Given the description of an element on the screen output the (x, y) to click on. 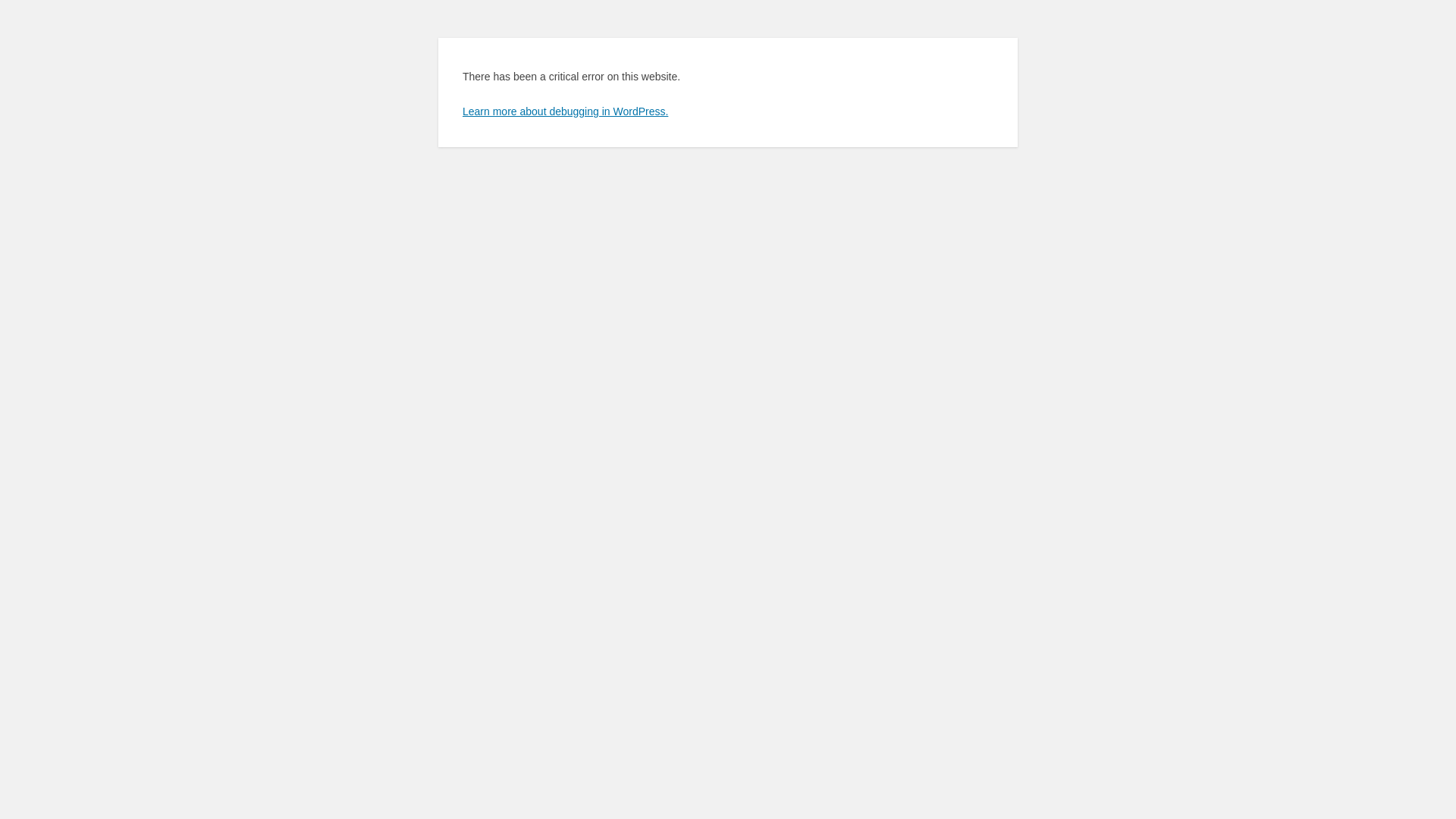
Learn more about debugging in WordPress. Element type: text (565, 111)
